Given the description of an element on the screen output the (x, y) to click on. 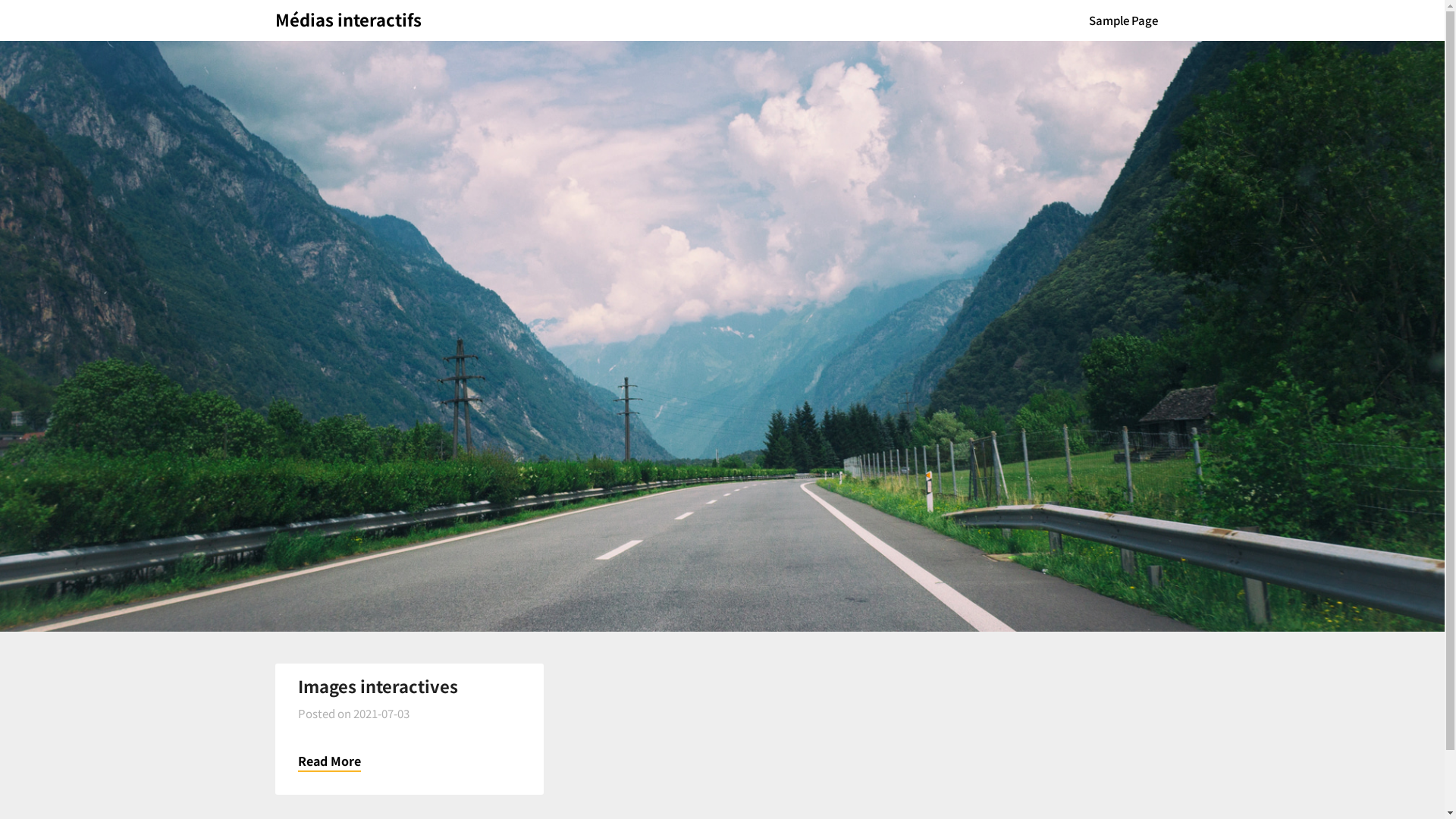
Images interactives Element type: text (377, 685)
Read More Element type: text (328, 760)
Sample Page Element type: text (1123, 20)
2021-07-03 Element type: text (381, 713)
